Given the description of an element on the screen output the (x, y) to click on. 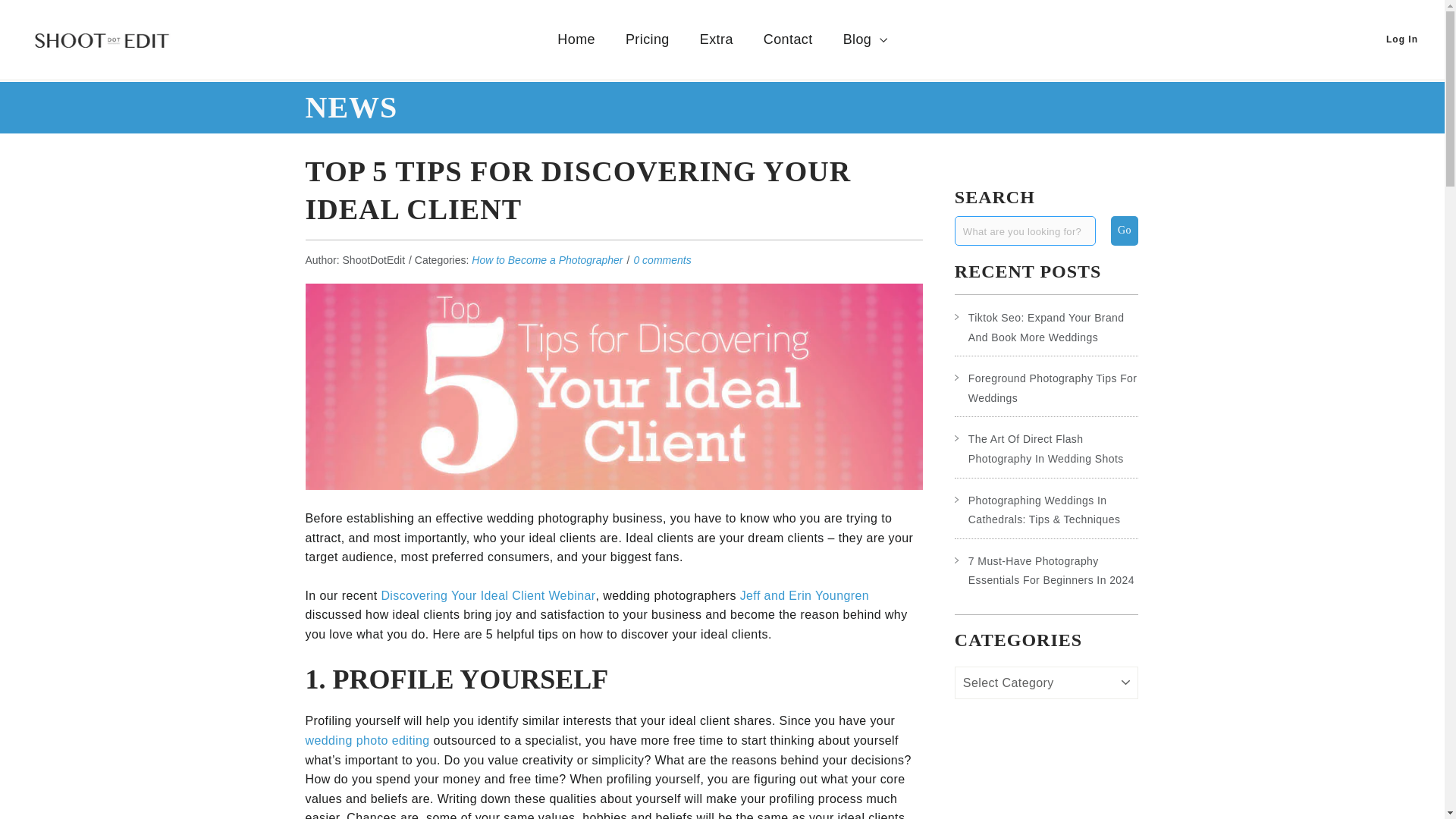
Pricing (647, 39)
Extra (716, 39)
Log In (1401, 39)
The Youngren's Homepage (804, 594)
Contact (788, 39)
Blog (865, 39)
Home (575, 39)
Top 5 Tips for Discovering your Ideal Client (613, 386)
Webinar: Discovering Your Ideal Client (487, 594)
